Given the description of an element on the screen output the (x, y) to click on. 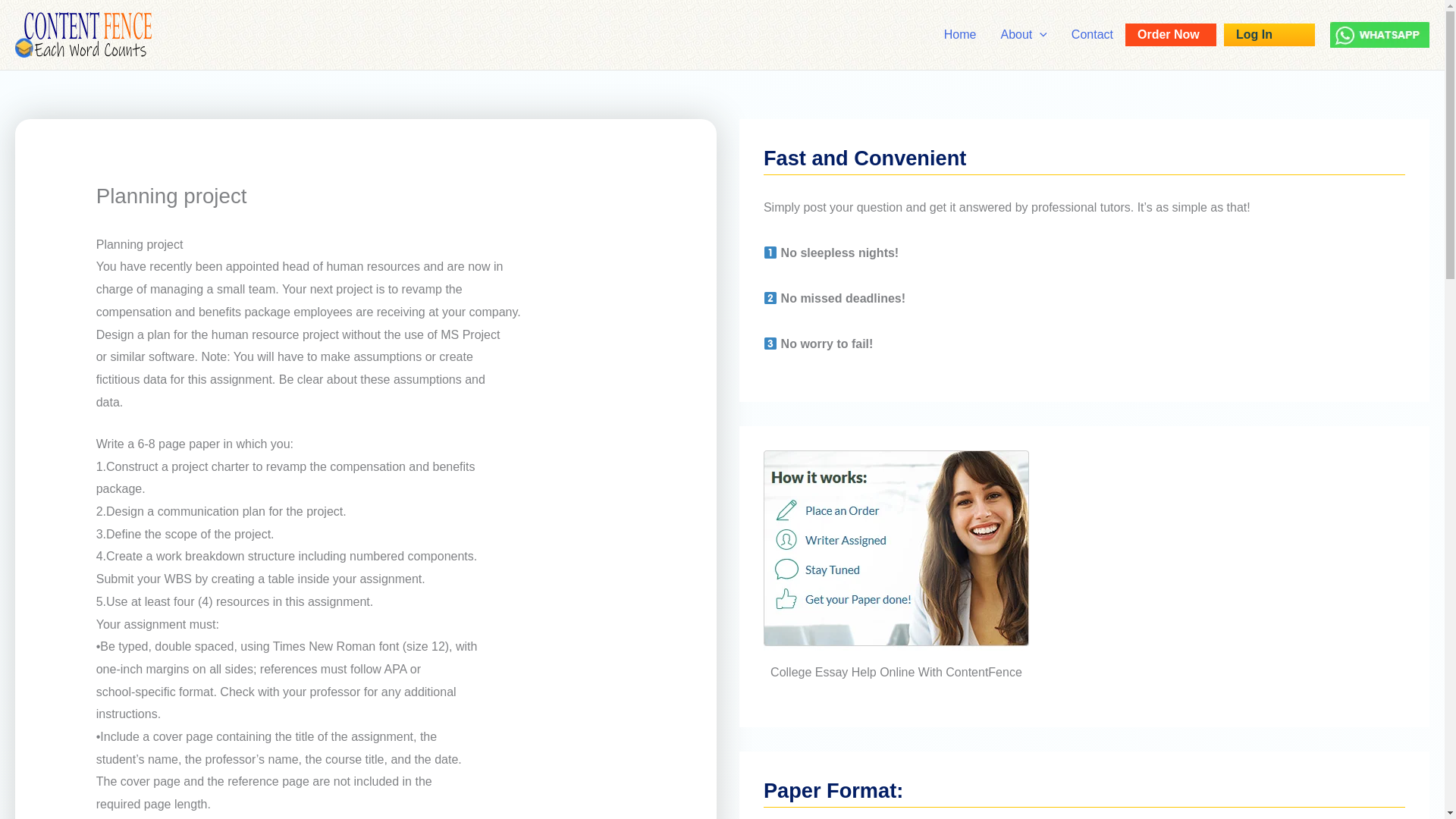
About (1023, 34)
Log In (1269, 34)
Home (959, 34)
Order Now (1170, 34)
Contact (1092, 34)
